Given the description of an element on the screen output the (x, y) to click on. 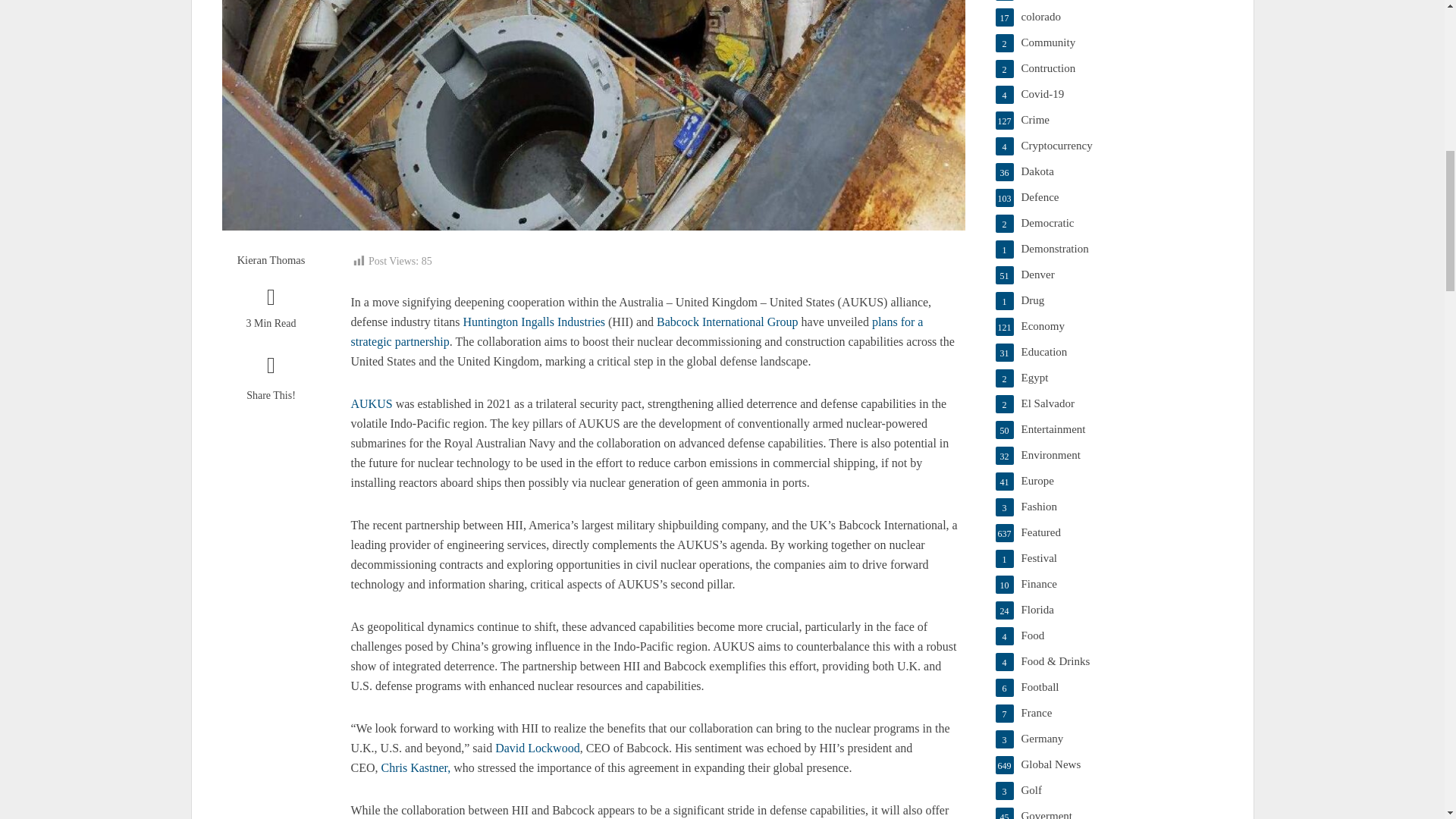
Featured posts (1108, 532)
